Given the description of an element on the screen output the (x, y) to click on. 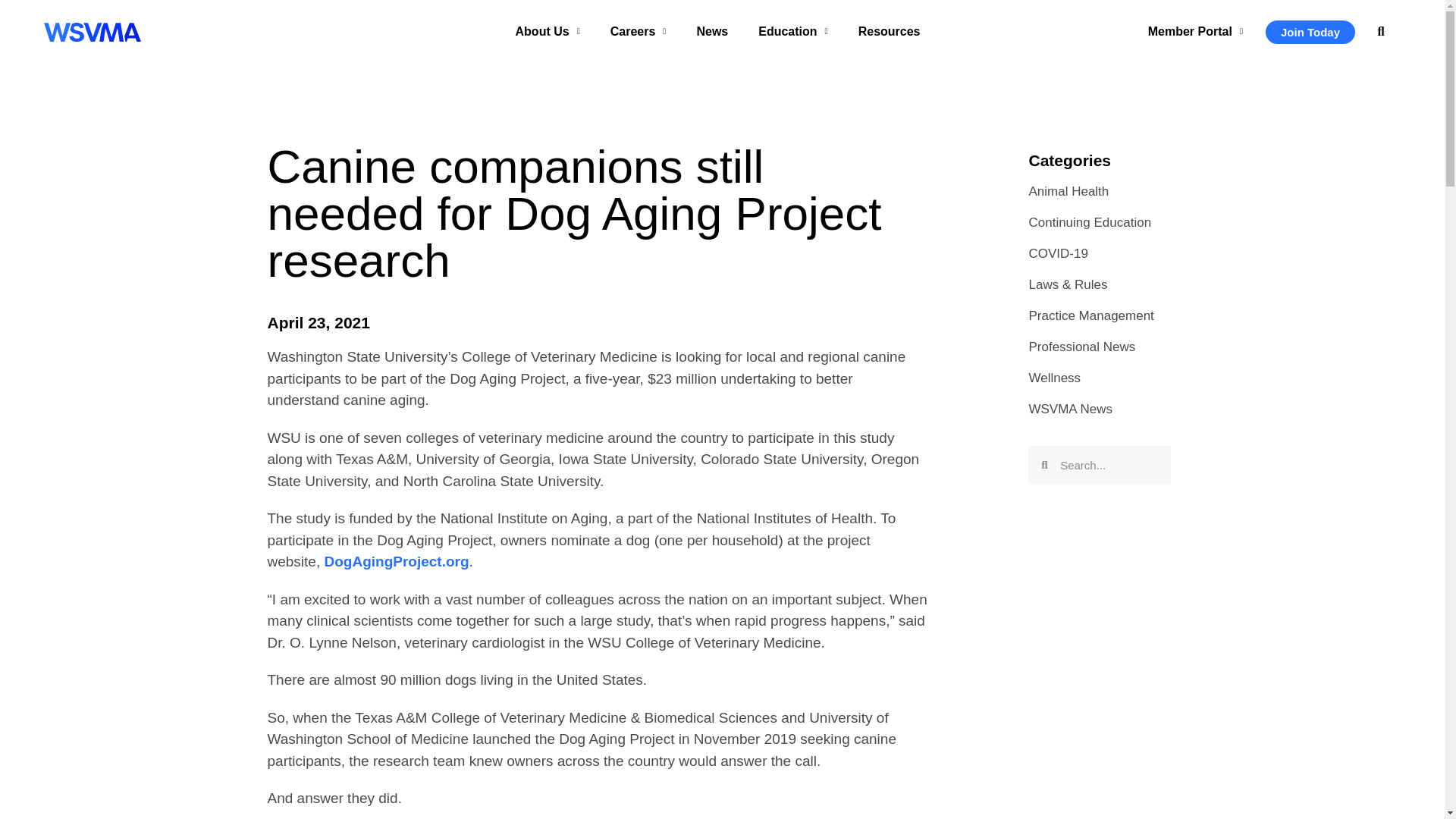
About Us (547, 31)
Education (792, 31)
News (711, 31)
Resources (889, 31)
Careers (638, 31)
